Given the description of an element on the screen output the (x, y) to click on. 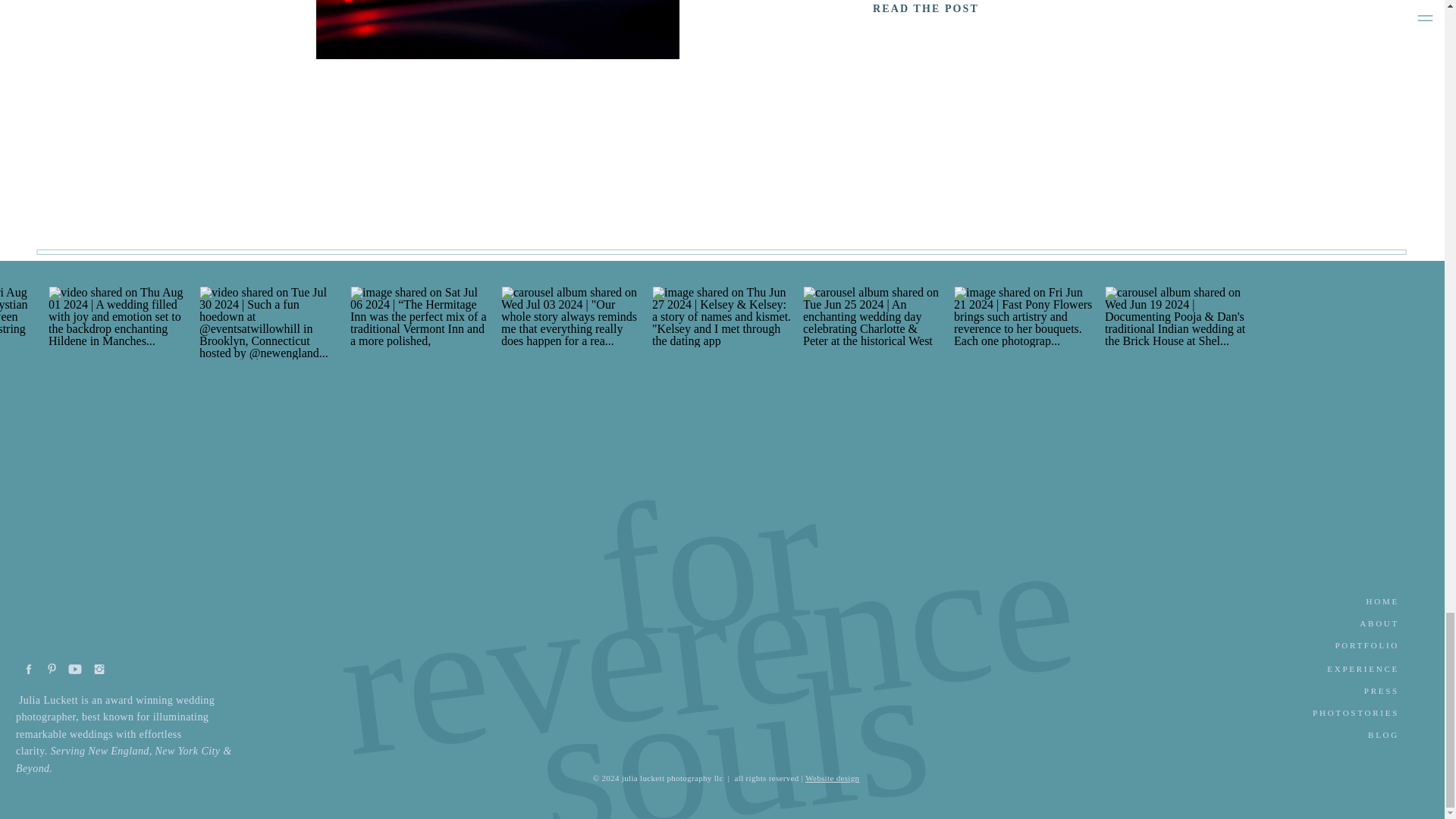
One Year Out (926, 9)
One Year Out (496, 29)
READ THE POST (926, 9)
